Given the description of an element on the screen output the (x, y) to click on. 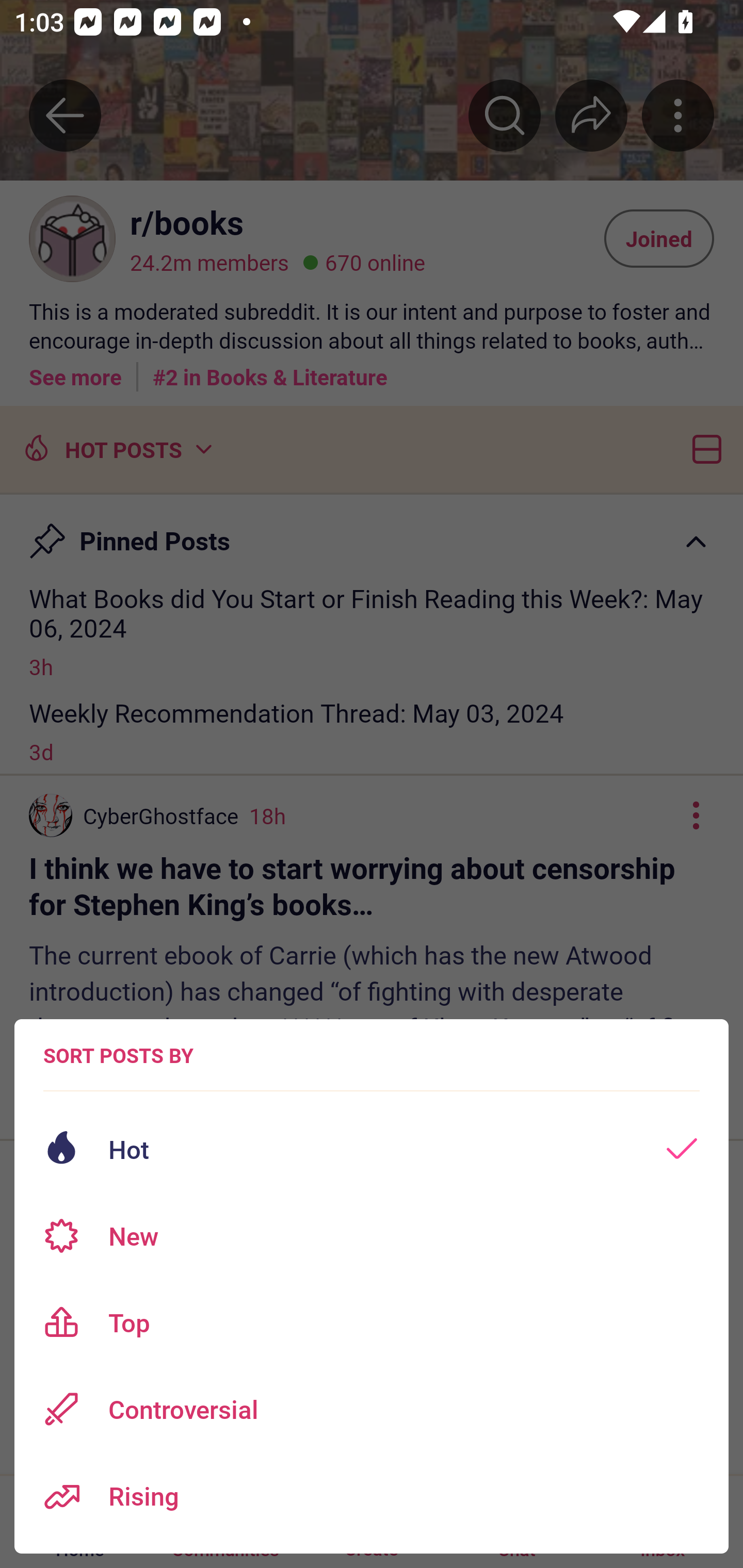
SORT POSTS BY Sort posts options (118, 1055)
Hot (371, 1149)
New (371, 1236)
Top (371, 1322)
Controversial (371, 1408)
Rising (371, 1495)
